Given the description of an element on the screen output the (x, y) to click on. 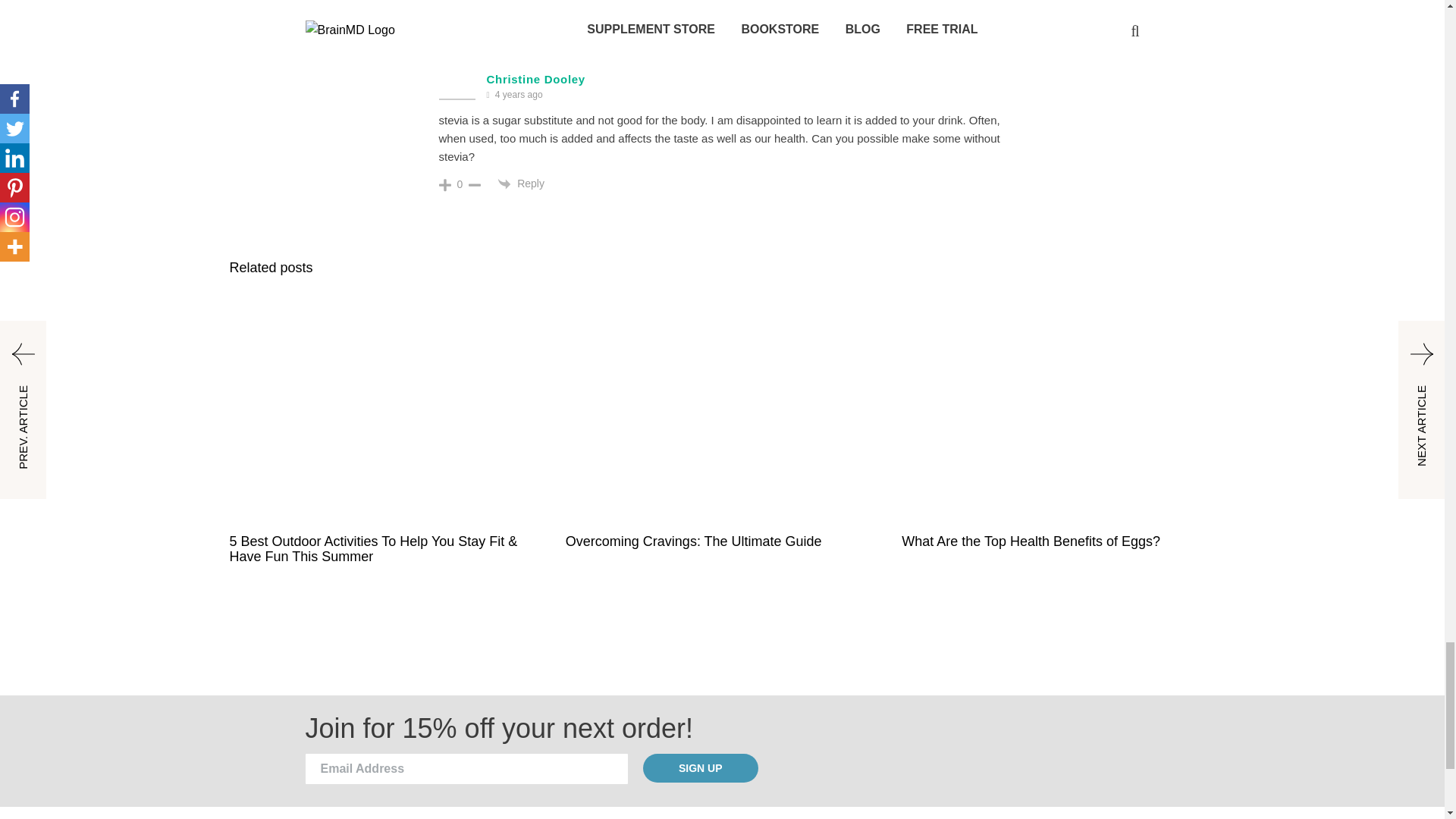
Sign Up (700, 767)
